Given the description of an element on the screen output the (x, y) to click on. 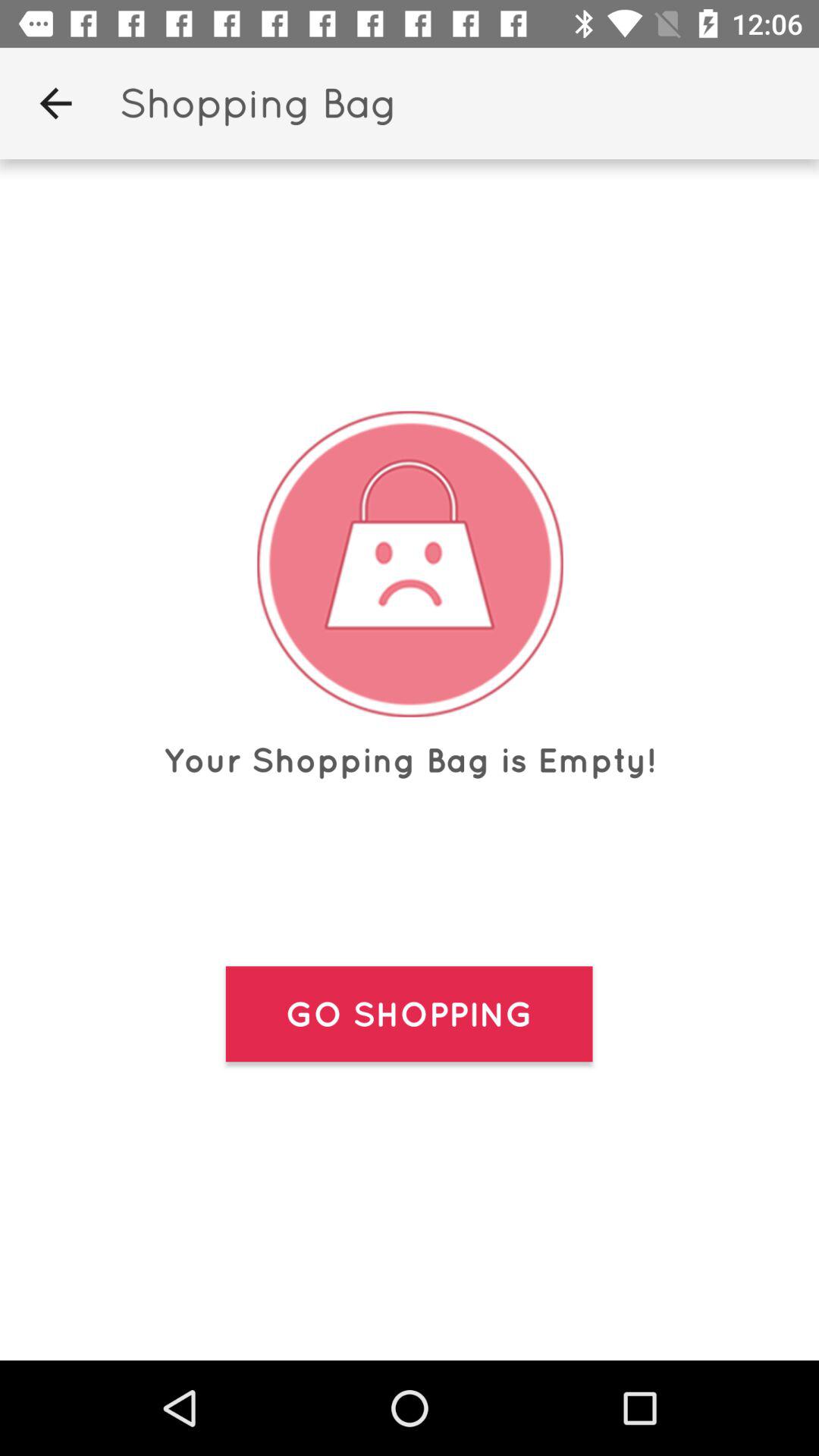
jump until the go shopping item (408, 1013)
